Given the description of an element on the screen output the (x, y) to click on. 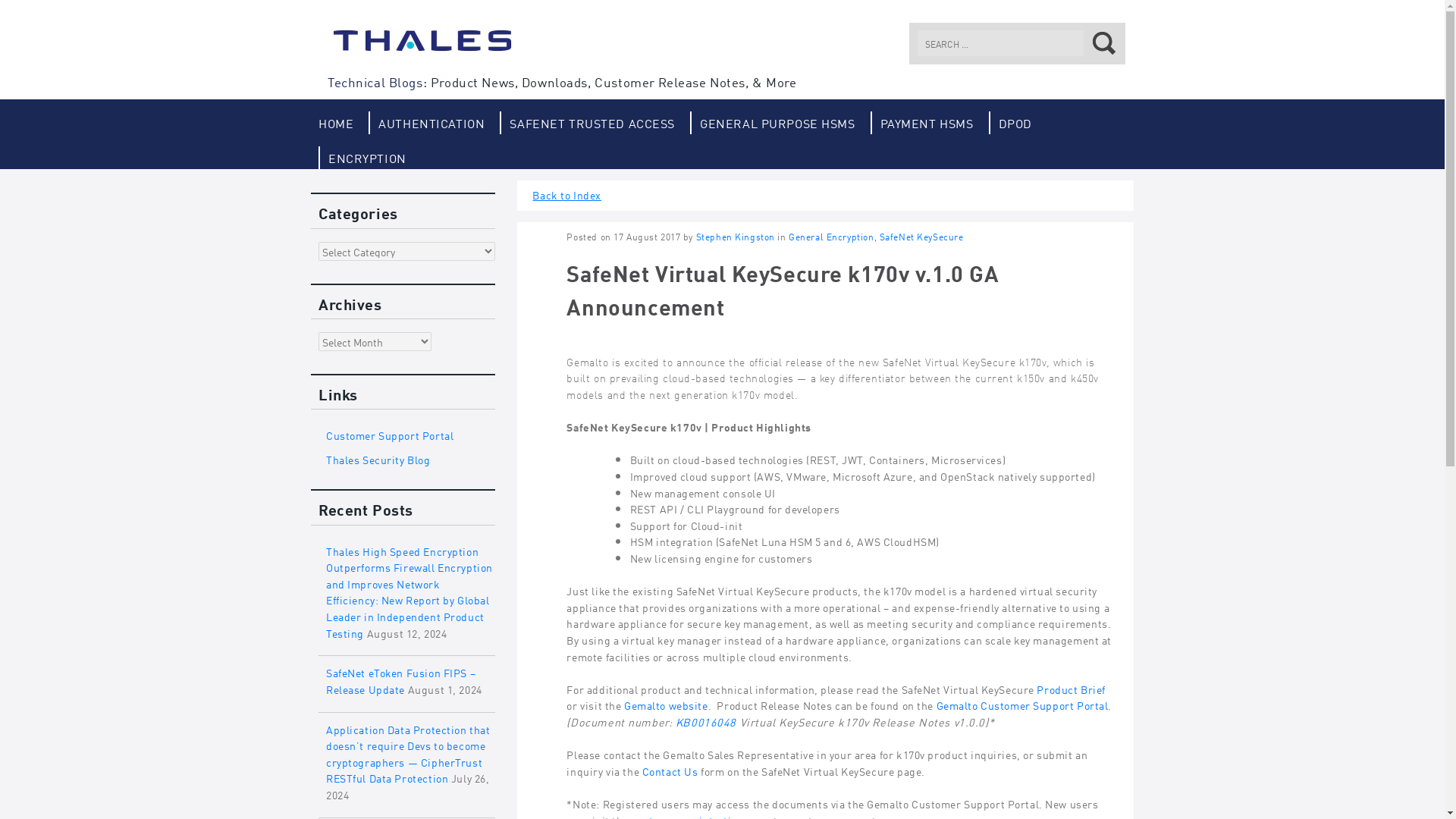
PAYMENT HSMS (922, 122)
DPOD (1010, 122)
ENCRYPTION (362, 157)
Search (1100, 43)
AUTHENTICATION (426, 122)
SAFENET TRUSTED ACCESS (587, 122)
Search (1100, 43)
HOME (335, 122)
Search (1100, 43)
Gemalto: Security to be free (421, 47)
